Given the description of an element on the screen output the (x, y) to click on. 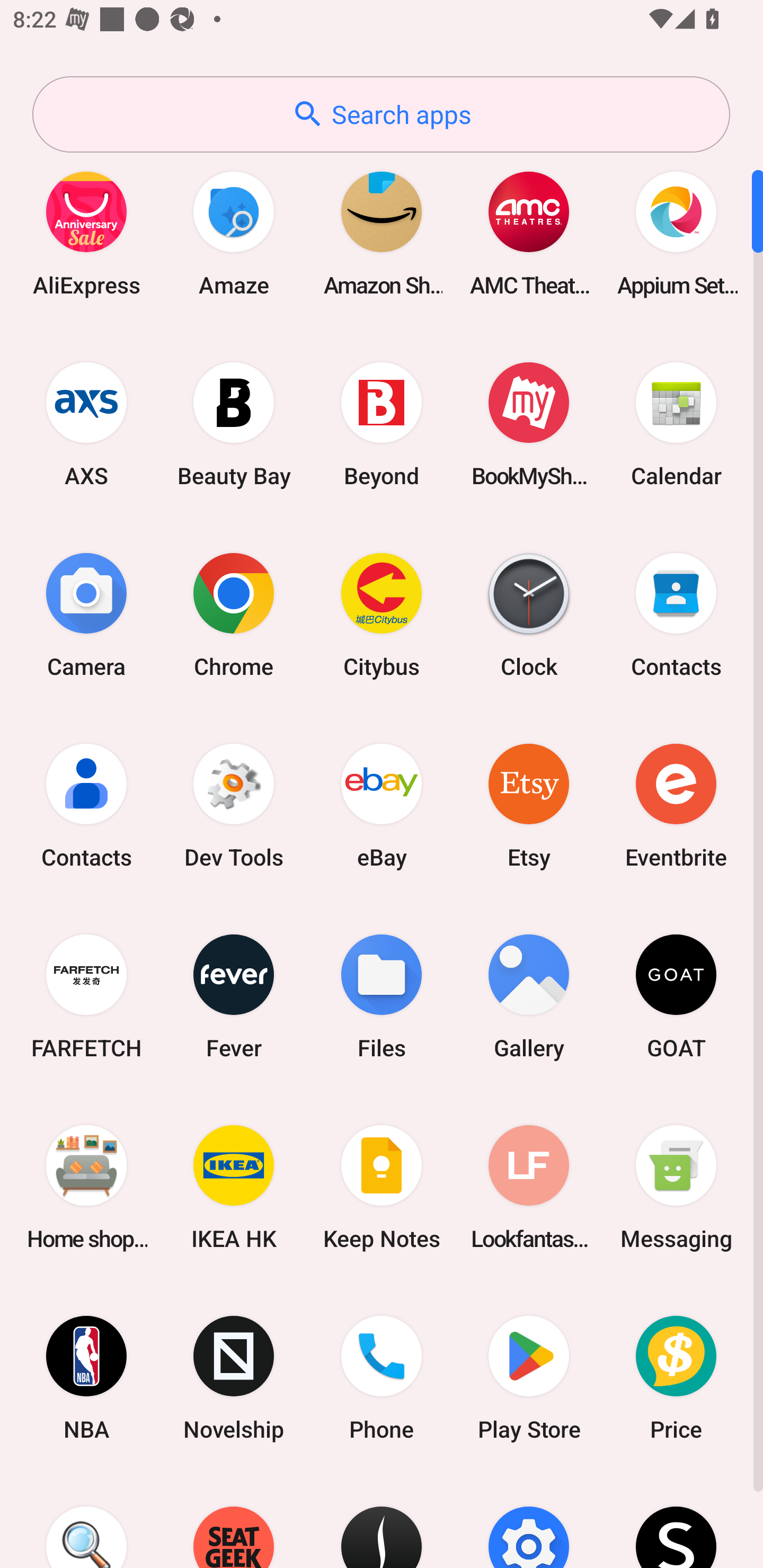
  Search apps (381, 114)
AliExpress (86, 233)
Amaze (233, 233)
Amazon Shopping (381, 233)
AMC Theatres (528, 233)
Appium Settings (676, 233)
AXS (86, 424)
Beauty Bay (233, 424)
Beyond (381, 424)
BookMyShow (528, 424)
Calendar (676, 424)
Camera (86, 614)
Chrome (233, 614)
Citybus (381, 614)
Clock (528, 614)
Contacts (676, 614)
Contacts (86, 805)
Dev Tools (233, 805)
eBay (381, 805)
Etsy (528, 805)
Eventbrite (676, 805)
FARFETCH (86, 996)
Fever (233, 996)
Files (381, 996)
Gallery (528, 996)
GOAT (676, 996)
Home shopping (86, 1186)
IKEA HK (233, 1186)
Keep Notes (381, 1186)
Lookfantastic (528, 1186)
Messaging (676, 1186)
NBA (86, 1377)
Novelship (233, 1377)
Phone (381, 1377)
Play Store (528, 1377)
Price (676, 1377)
